Given the description of an element on the screen output the (x, y) to click on. 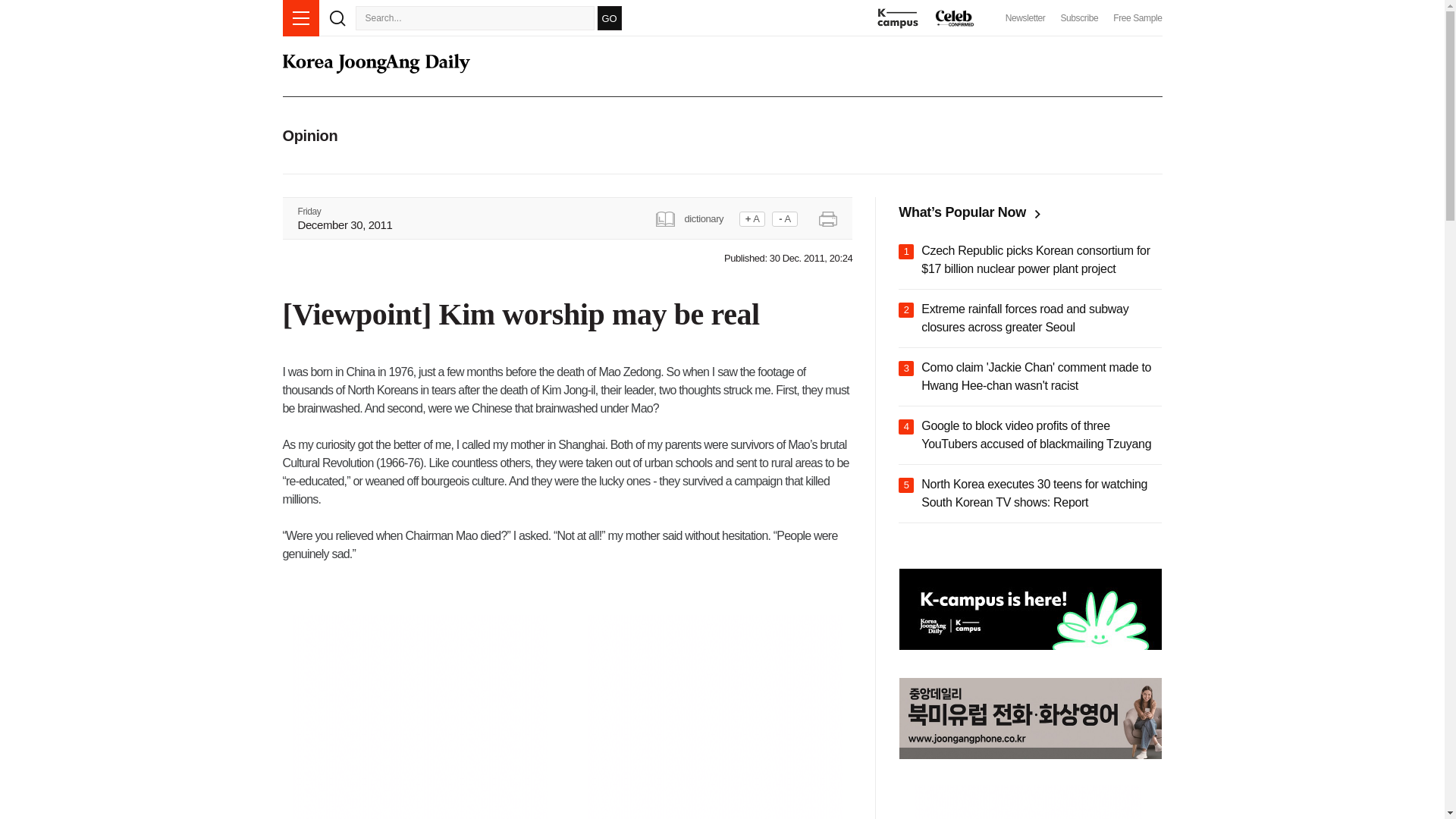
Newsletter (1025, 18)
dictionary (695, 217)
- A (784, 218)
GO (608, 17)
Subscribe (1078, 18)
Free Sample (1137, 18)
3rd party ad content (419, 716)
Published: 30 Dec. 2011, 20:24 (787, 258)
3rd party ad content (715, 716)
